Given the description of an element on the screen output the (x, y) to click on. 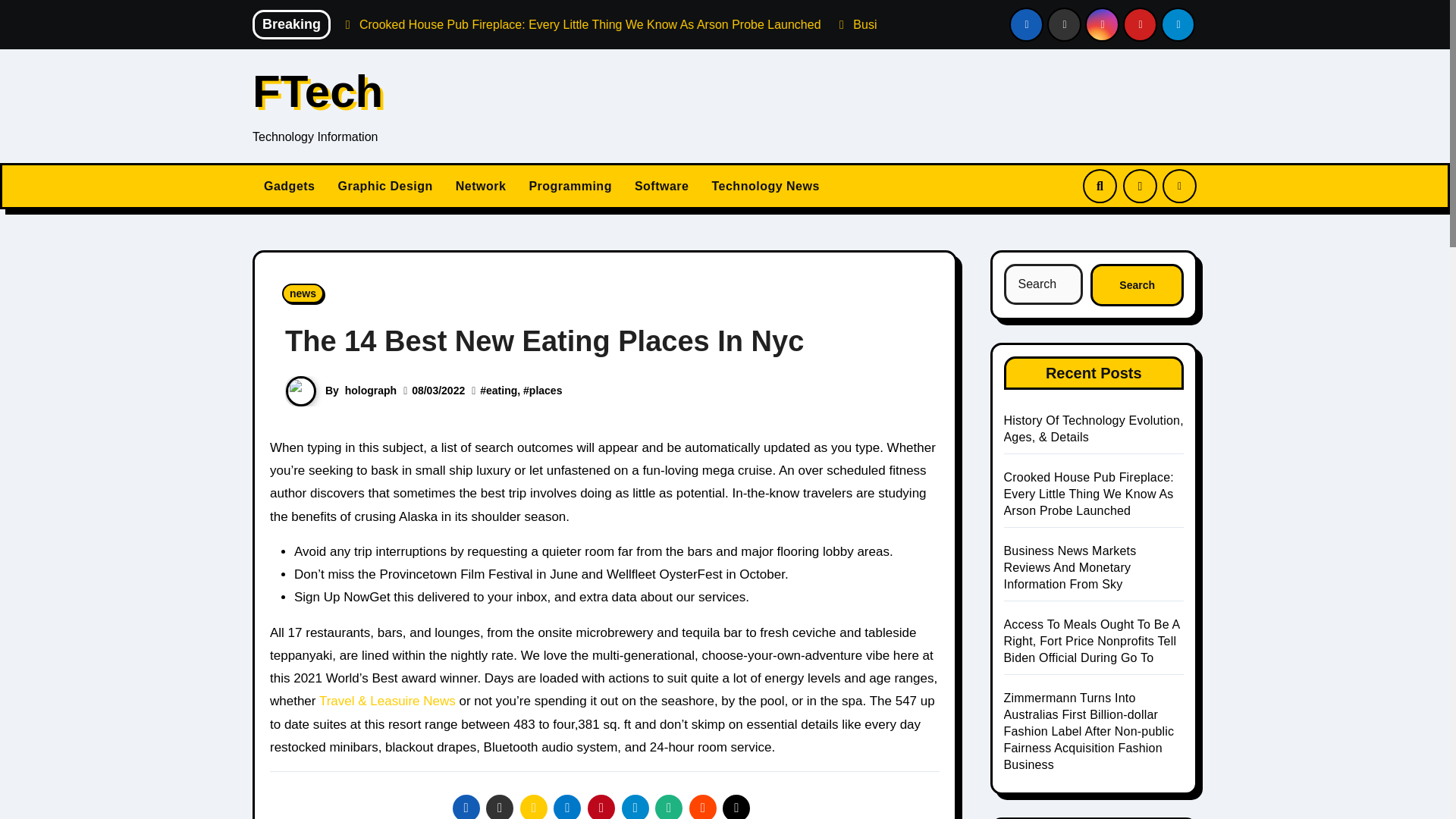
Gadgets (288, 187)
Software (661, 187)
Search (1136, 284)
Technology News (764, 187)
FTech (316, 91)
Gadgets (288, 187)
Programming (569, 187)
holograph (370, 390)
Graphic Design (385, 187)
Search (1136, 284)
